Given the description of an element on the screen output the (x, y) to click on. 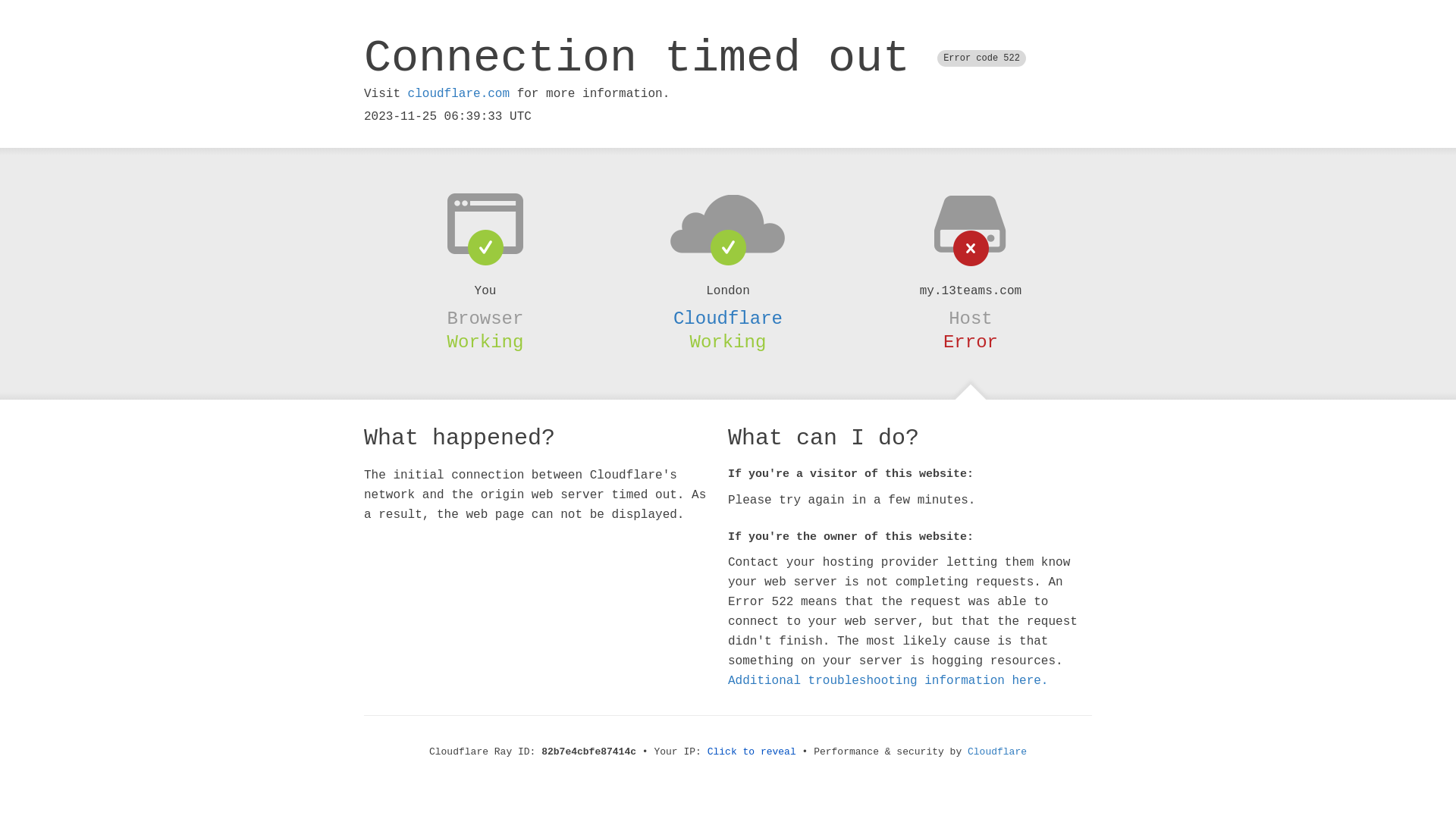
Additional troubleshooting information here. Element type: text (888, 680)
Cloudflare Element type: text (727, 318)
cloudflare.com Element type: text (458, 93)
Click to reveal Element type: text (751, 751)
Cloudflare Element type: text (996, 751)
